Given the description of an element on the screen output the (x, y) to click on. 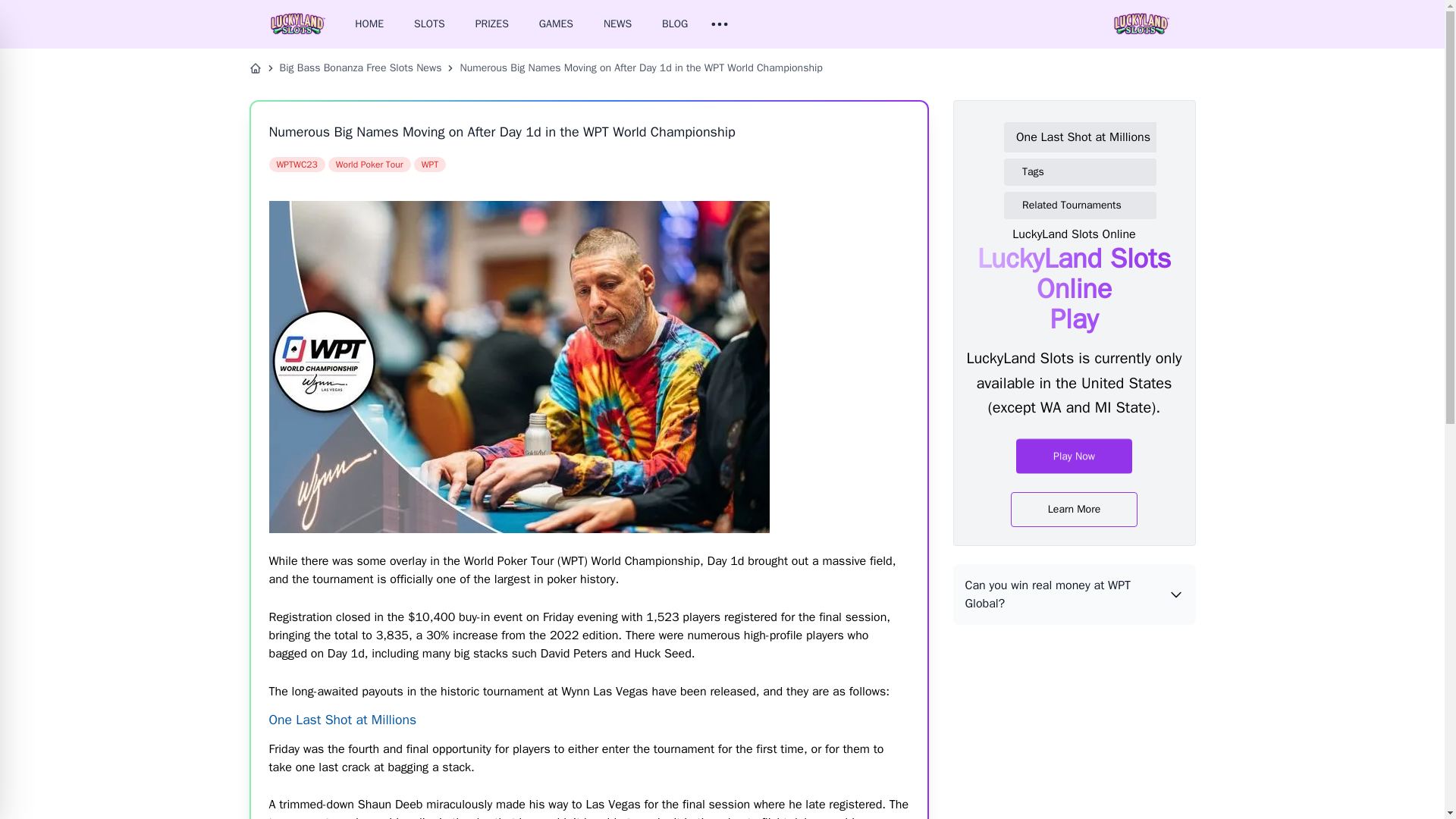
NEWS (617, 23)
Tags (1086, 171)
WPT (429, 163)
World Poker Tour (369, 163)
Big Bass Bonanza Free Slots News (360, 68)
Related Tournaments (1086, 205)
Learn More (1073, 508)
GAMES (555, 23)
WPT (429, 163)
WPTWC23 (295, 163)
Play Now (1074, 452)
World (369, 163)
PRIZES (491, 23)
BLOG (674, 23)
